Given the description of an element on the screen output the (x, y) to click on. 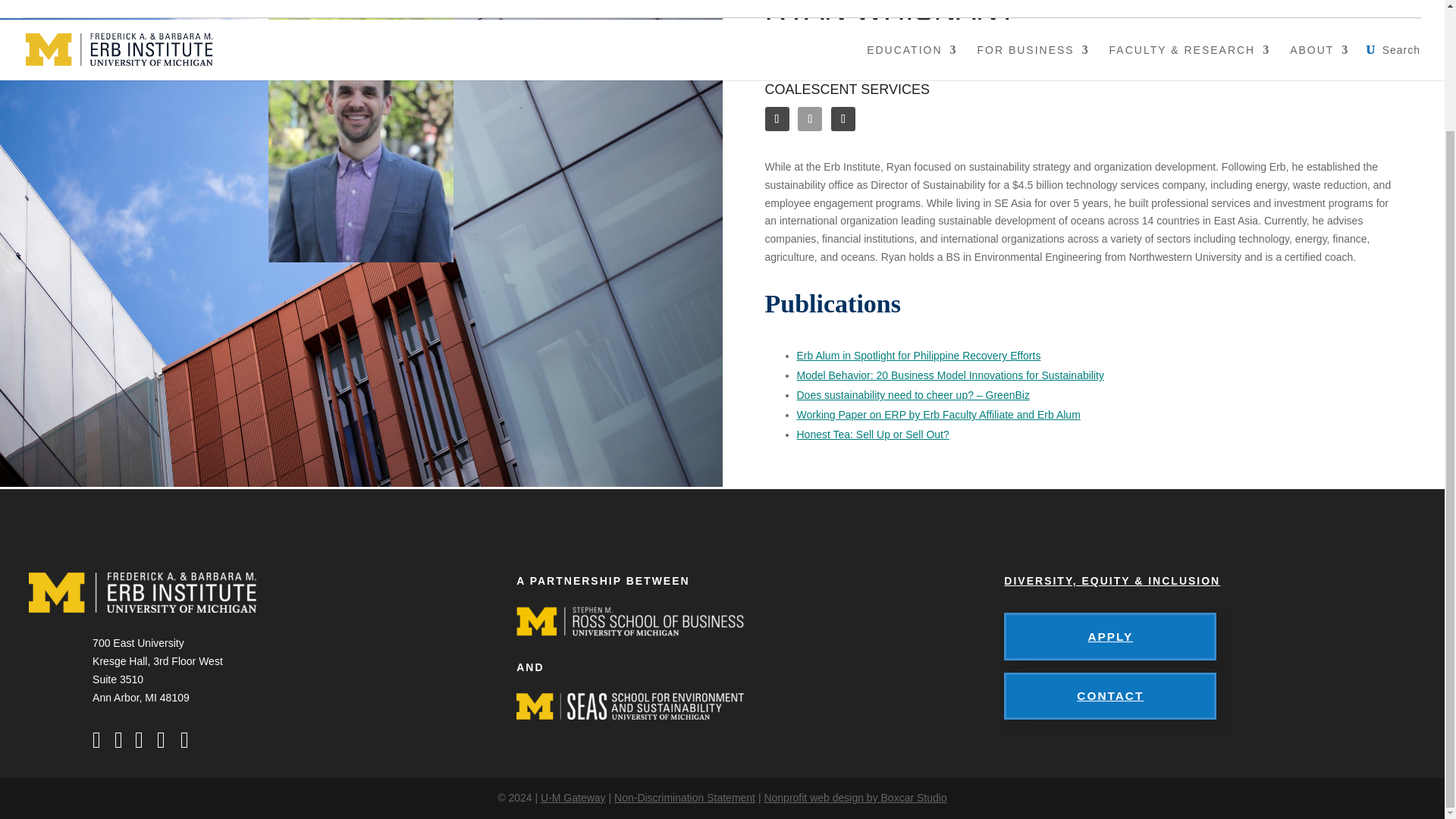
Follow on LinkedIn (776, 119)
Follow on Twitter (809, 119)
RyanWhisnant (359, 138)
Go to Website (843, 119)
